Given the description of an element on the screen output the (x, y) to click on. 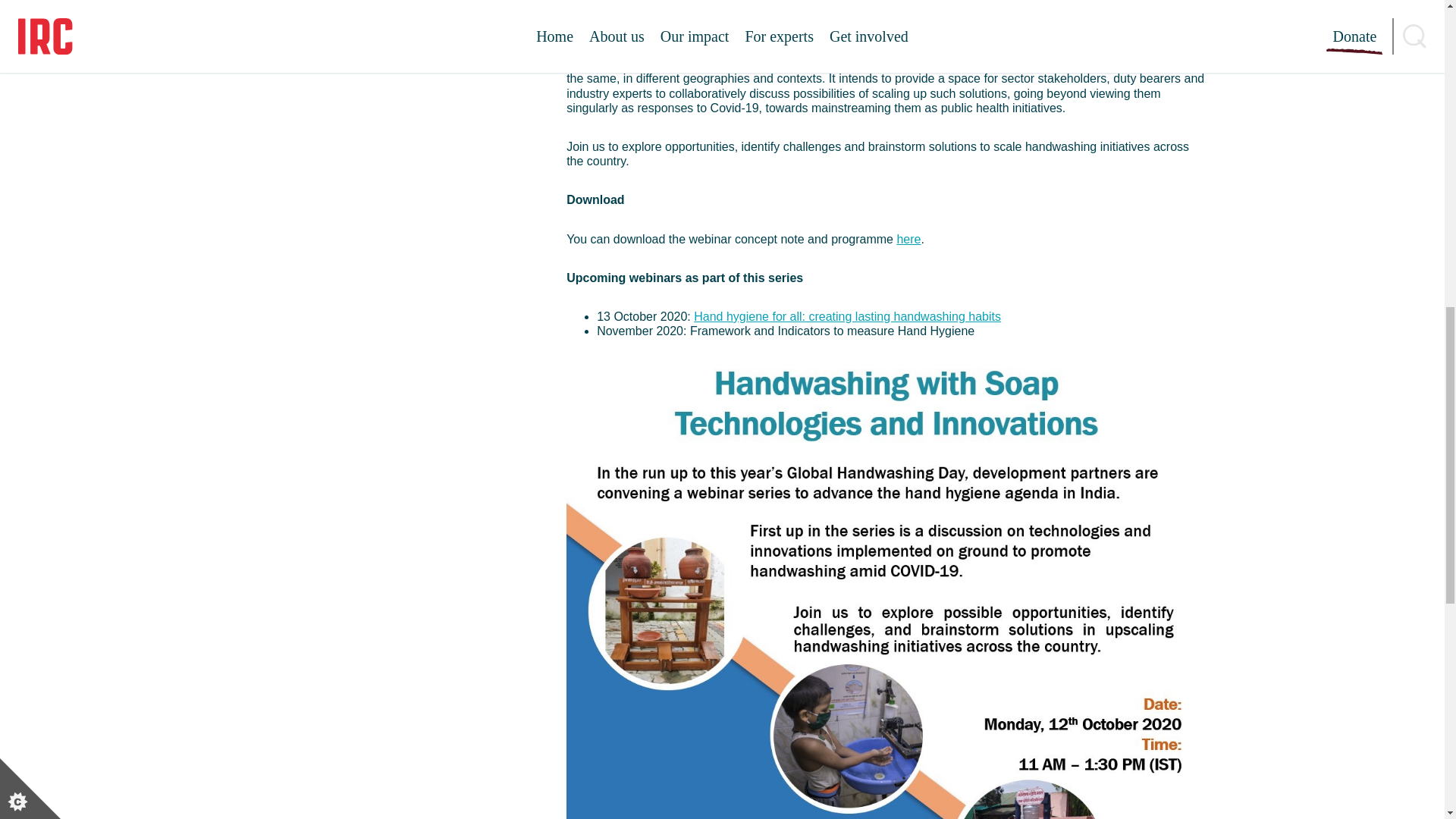
Hand hygiene for all: creating lasting handwashing habits (847, 316)
here (908, 238)
